Given the description of an element on the screen output the (x, y) to click on. 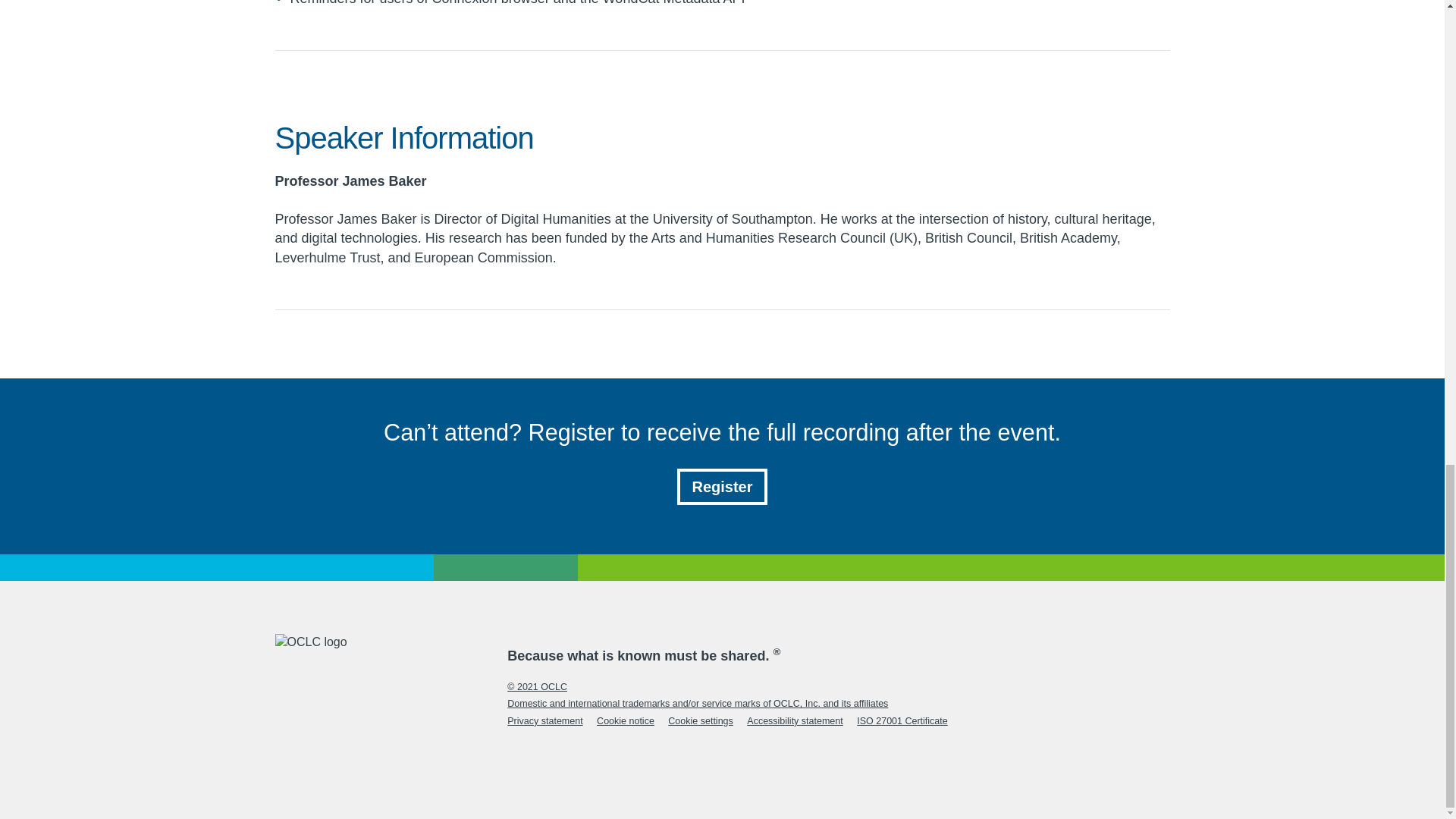
Accessibility statement (794, 720)
Read the OCLC copyright policy (536, 686)
Cookie notice (624, 720)
View the OCLC and Affiliate Trademarks and Service Marks PDF (697, 703)
Register (722, 486)
ISO 27001 Certificate (902, 720)
Privacy statement (544, 720)
Cookie settings (700, 720)
